Given the description of an element on the screen output the (x, y) to click on. 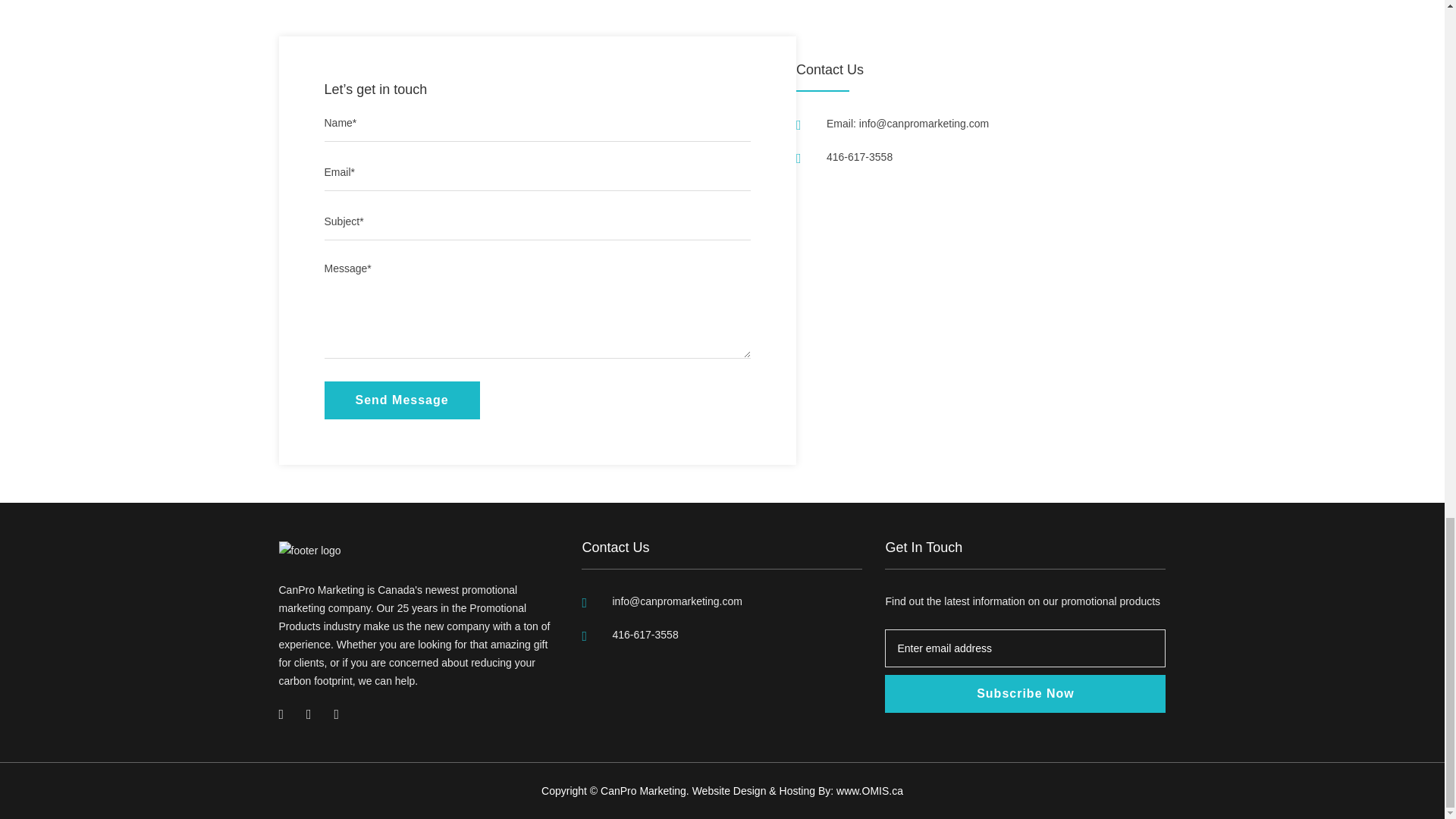
416-617-3558 (644, 634)
Subscribe Now (1025, 693)
416-617-3558 (859, 156)
Send Message (402, 400)
